Given the description of an element on the screen output the (x, y) to click on. 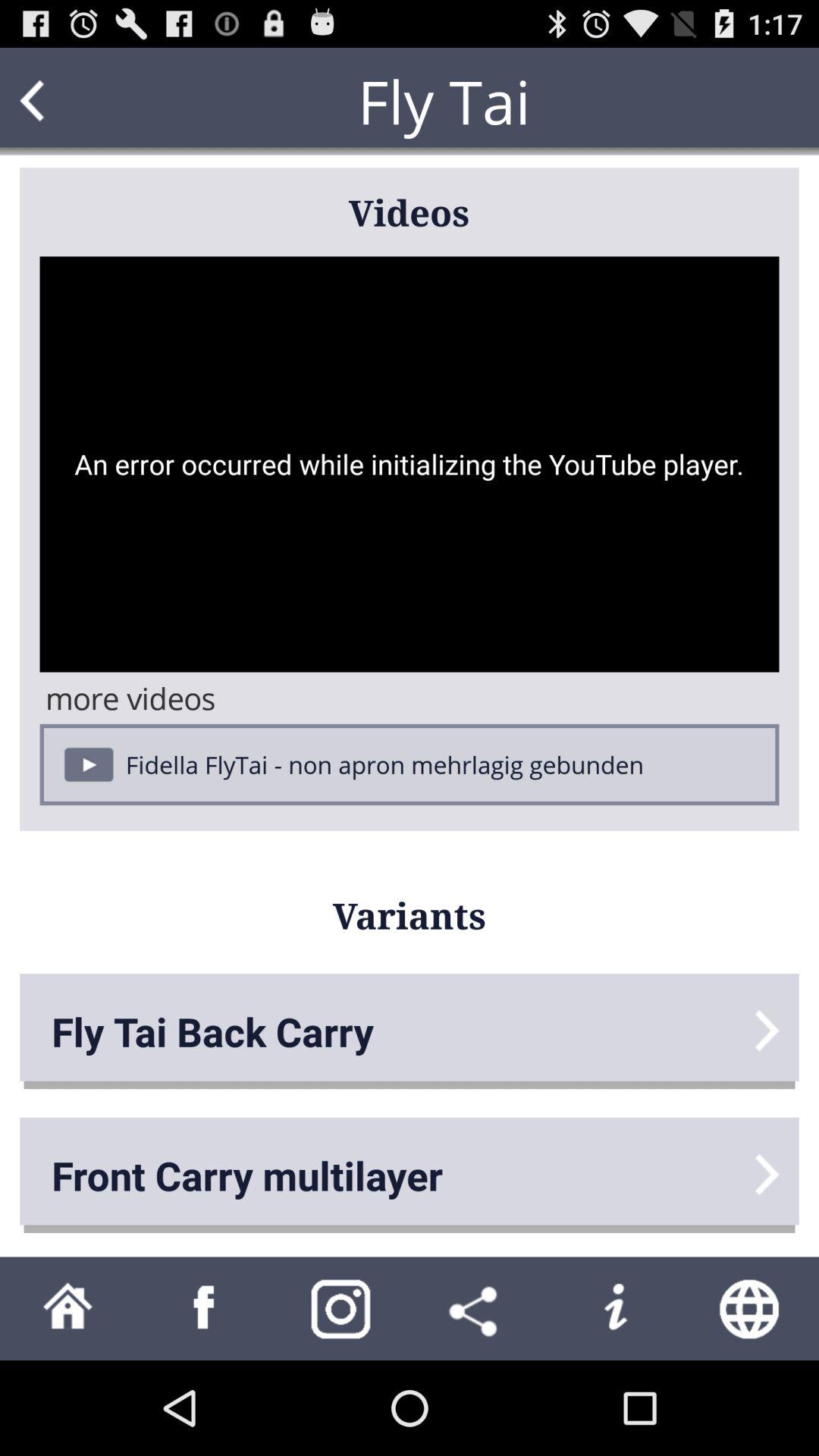
share the video (477, 1308)
